Given the description of an element on the screen output the (x, y) to click on. 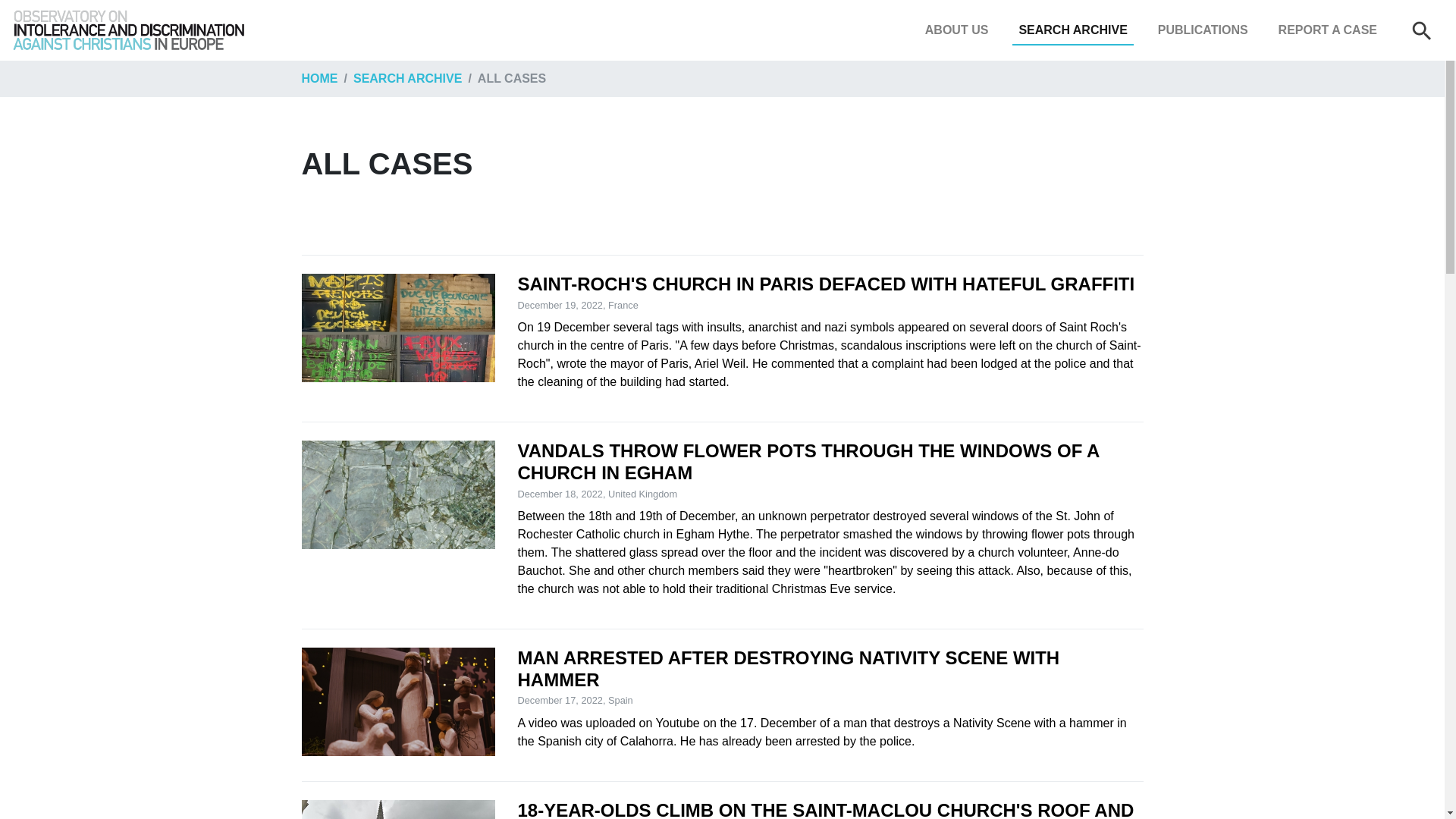
Publications (1202, 30)
Report a case (1327, 30)
ABOUT US (956, 30)
SEARCH ARCHIVE (1071, 30)
About us (956, 30)
Search archive (1071, 30)
REPORT A CASE (1327, 30)
PUBLICATIONS (1202, 30)
